Given the description of an element on the screen output the (x, y) to click on. 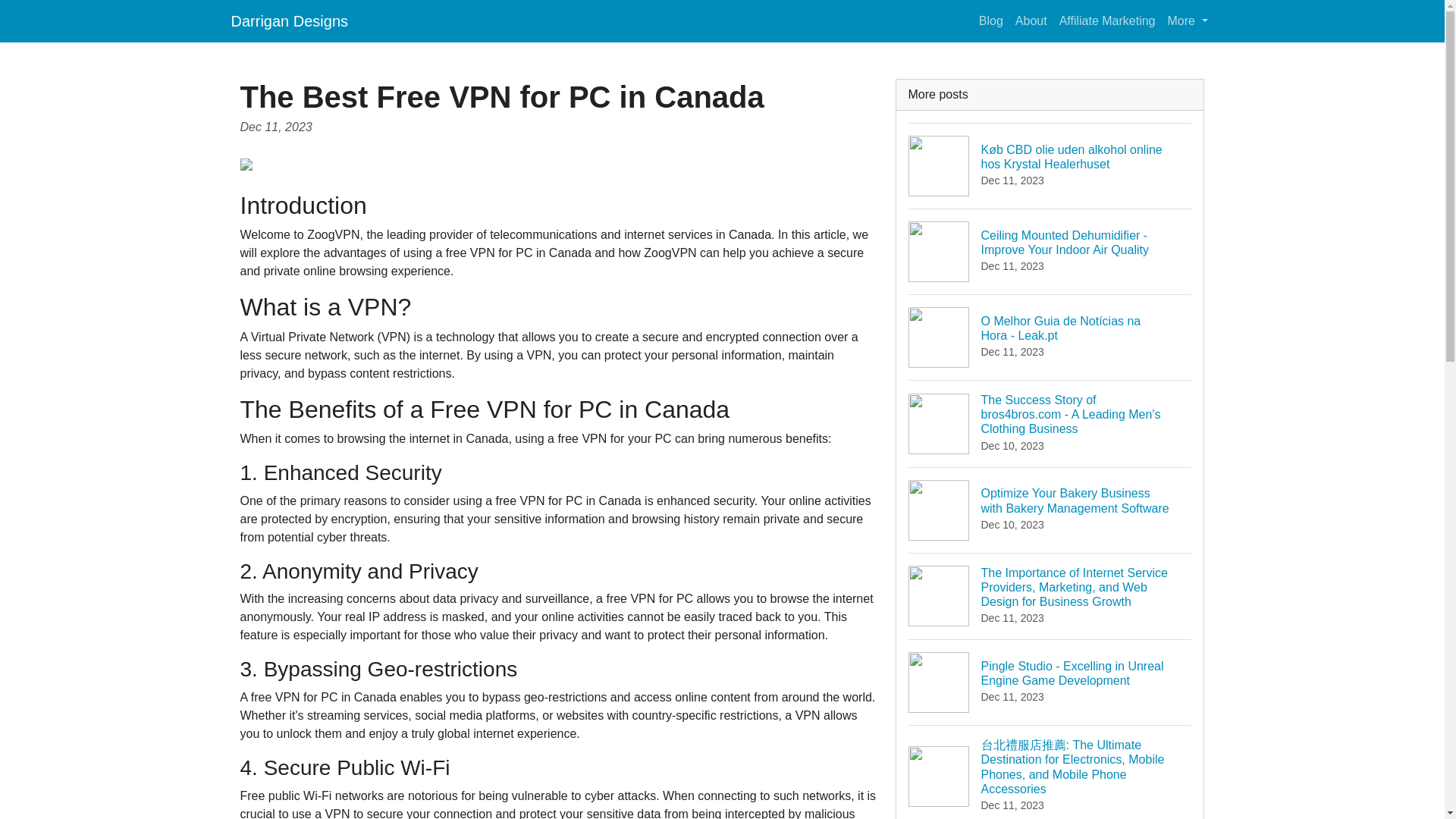
More (1187, 20)
Darrigan Designs (288, 20)
About (1030, 20)
Affiliate Marketing (1106, 20)
Blog (990, 20)
